Given the description of an element on the screen output the (x, y) to click on. 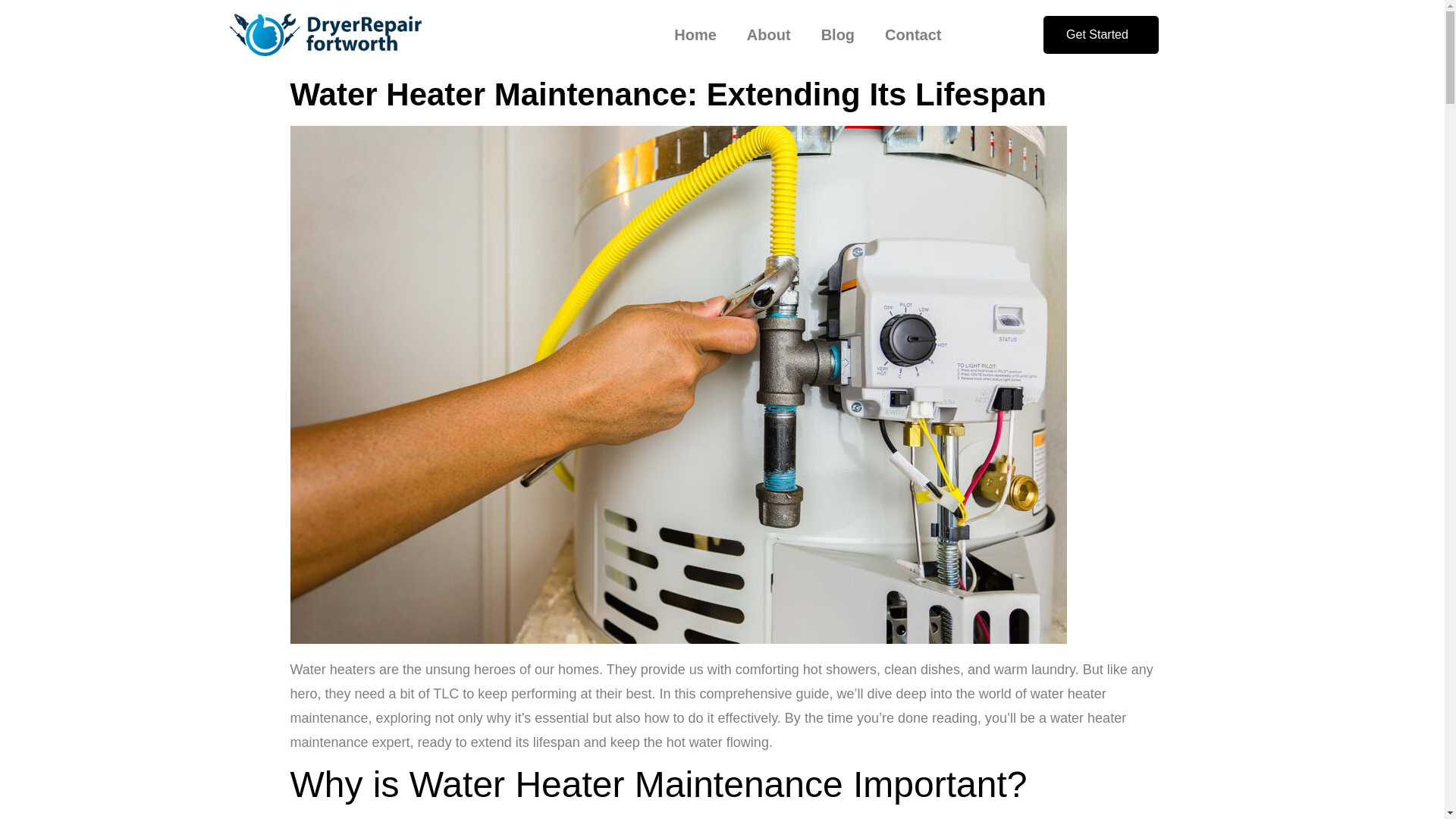
Home (695, 34)
Blog (837, 34)
Get Started (1100, 34)
Contact (912, 34)
About (769, 34)
